Given the description of an element on the screen output the (x, y) to click on. 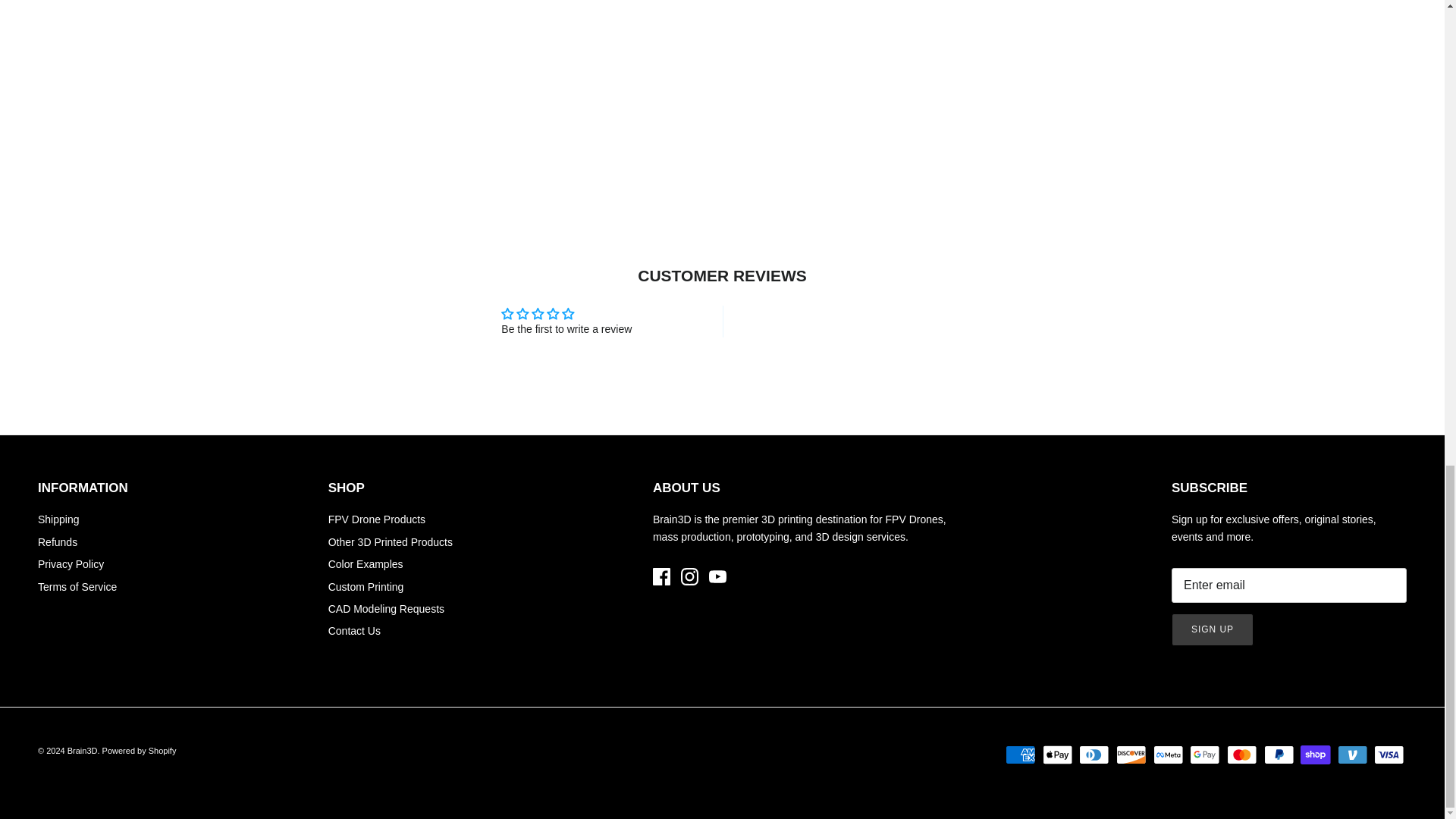
Instagram (689, 576)
Meta Pay (1168, 754)
Discover (1130, 754)
Apple Pay (1057, 754)
Facebook (660, 576)
Diners Club (1093, 754)
American Express (1020, 754)
Youtube (717, 576)
